Given the description of an element on the screen output the (x, y) to click on. 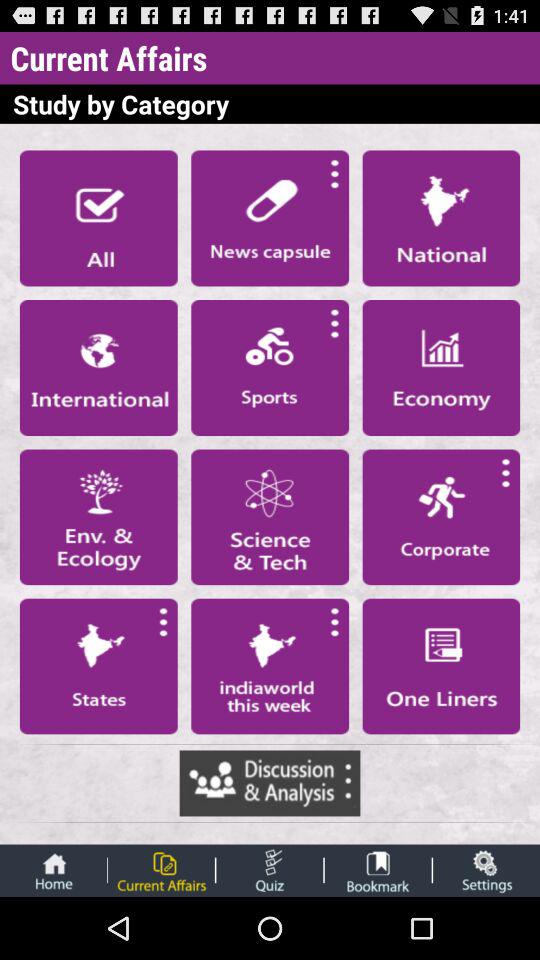
click for option (441, 666)
